Given the description of an element on the screen output the (x, y) to click on. 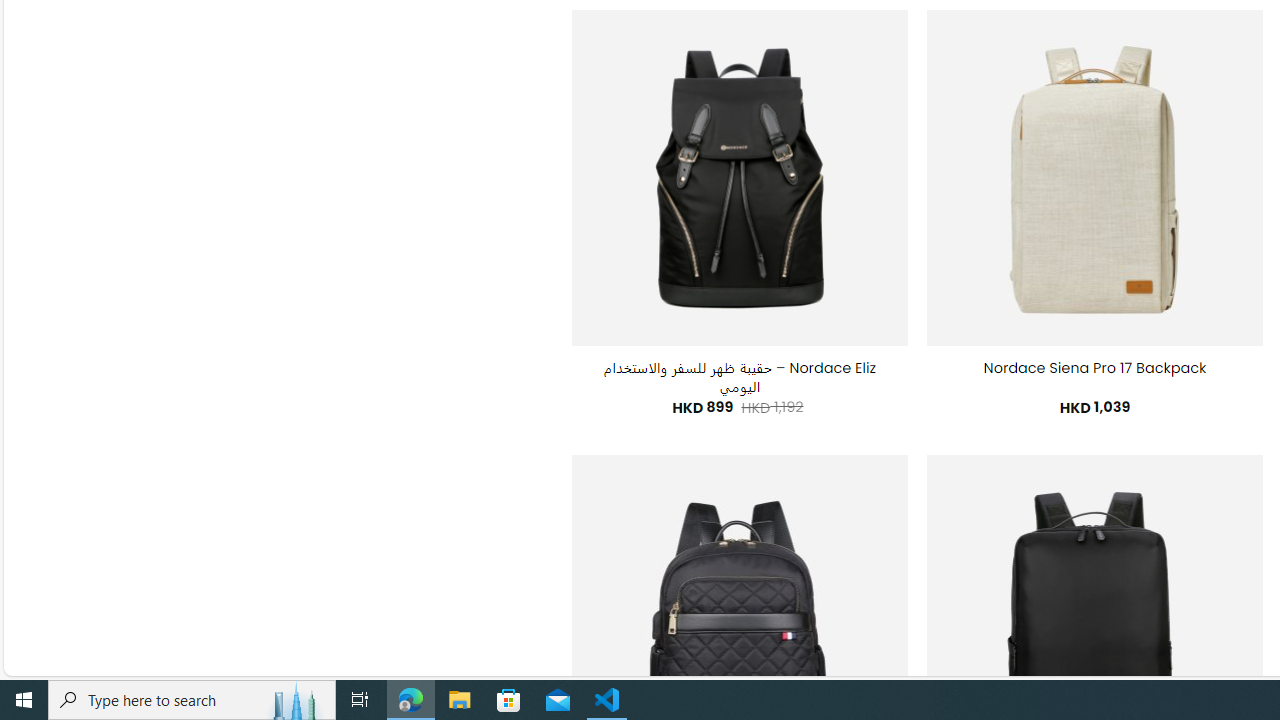
Nordace Siena Pro 17 Backpack (1095, 368)
